Given the description of an element on the screen output the (x, y) to click on. 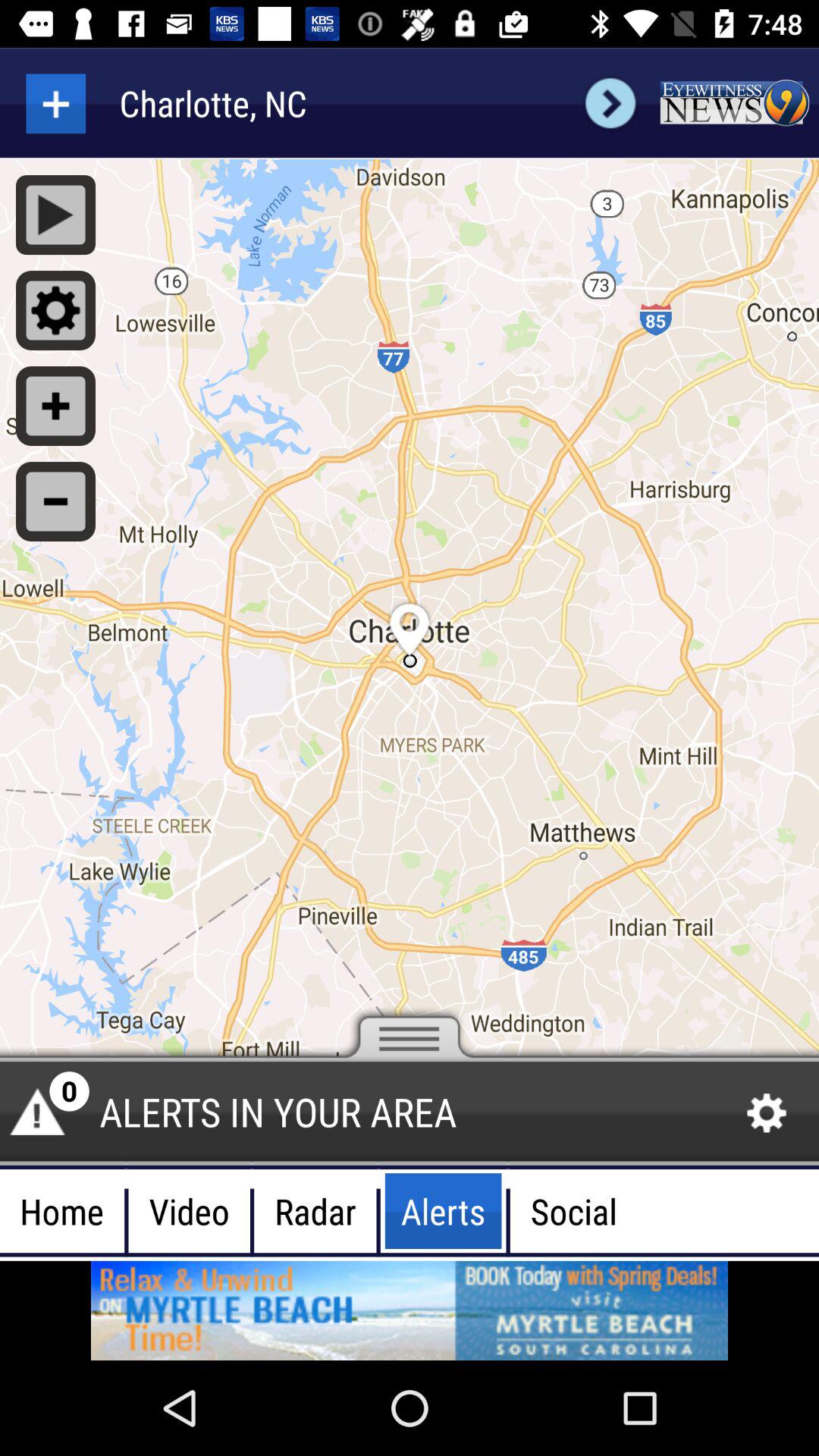
go back (55, 103)
